Given the description of an element on the screen output the (x, y) to click on. 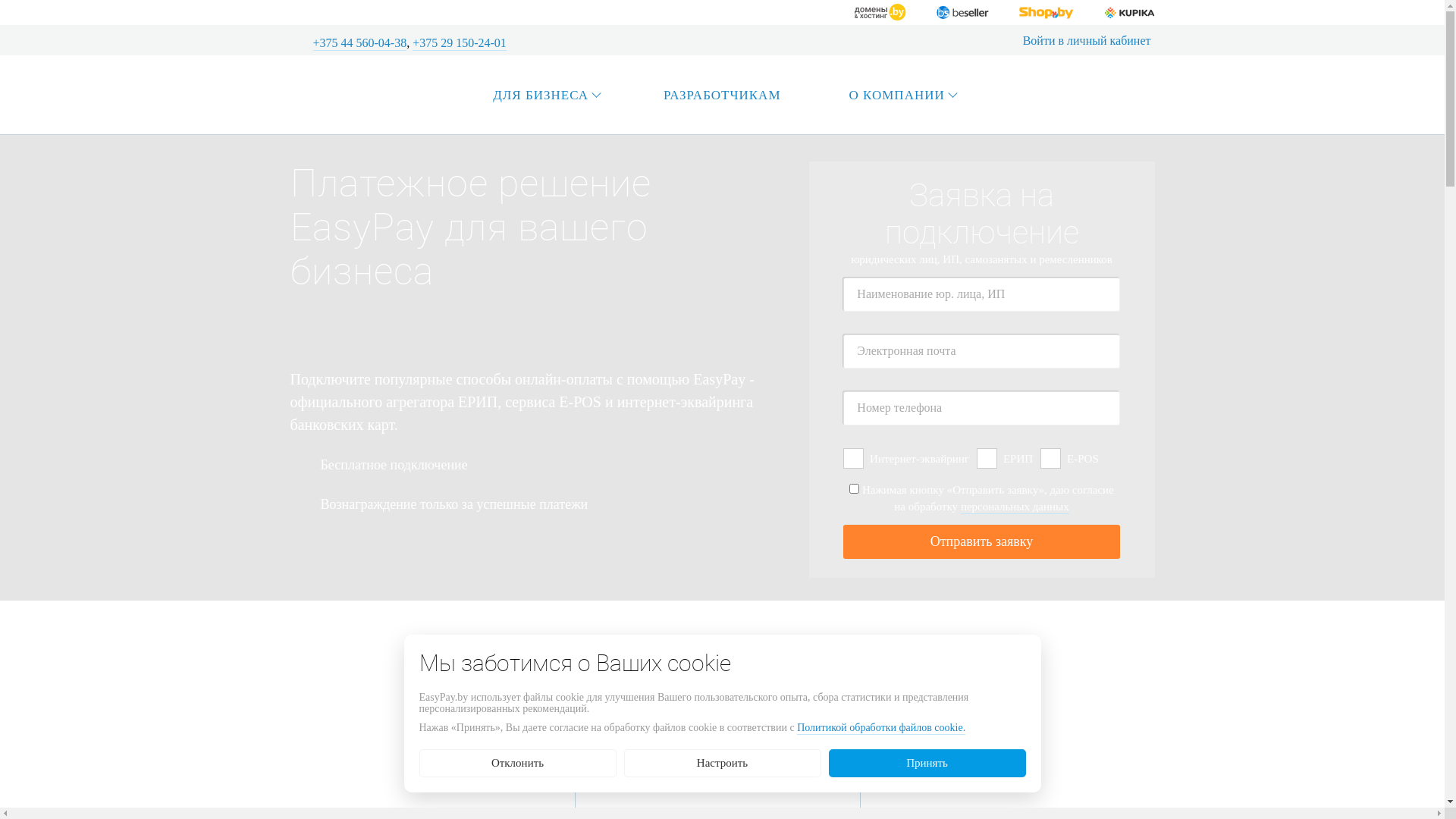
+375 29 150-24-01 Element type: text (459, 43)
EasyPay Element type: text (353, 94)
+375 44 560-04-38 Element type: text (359, 43)
